Given the description of an element on the screen output the (x, y) to click on. 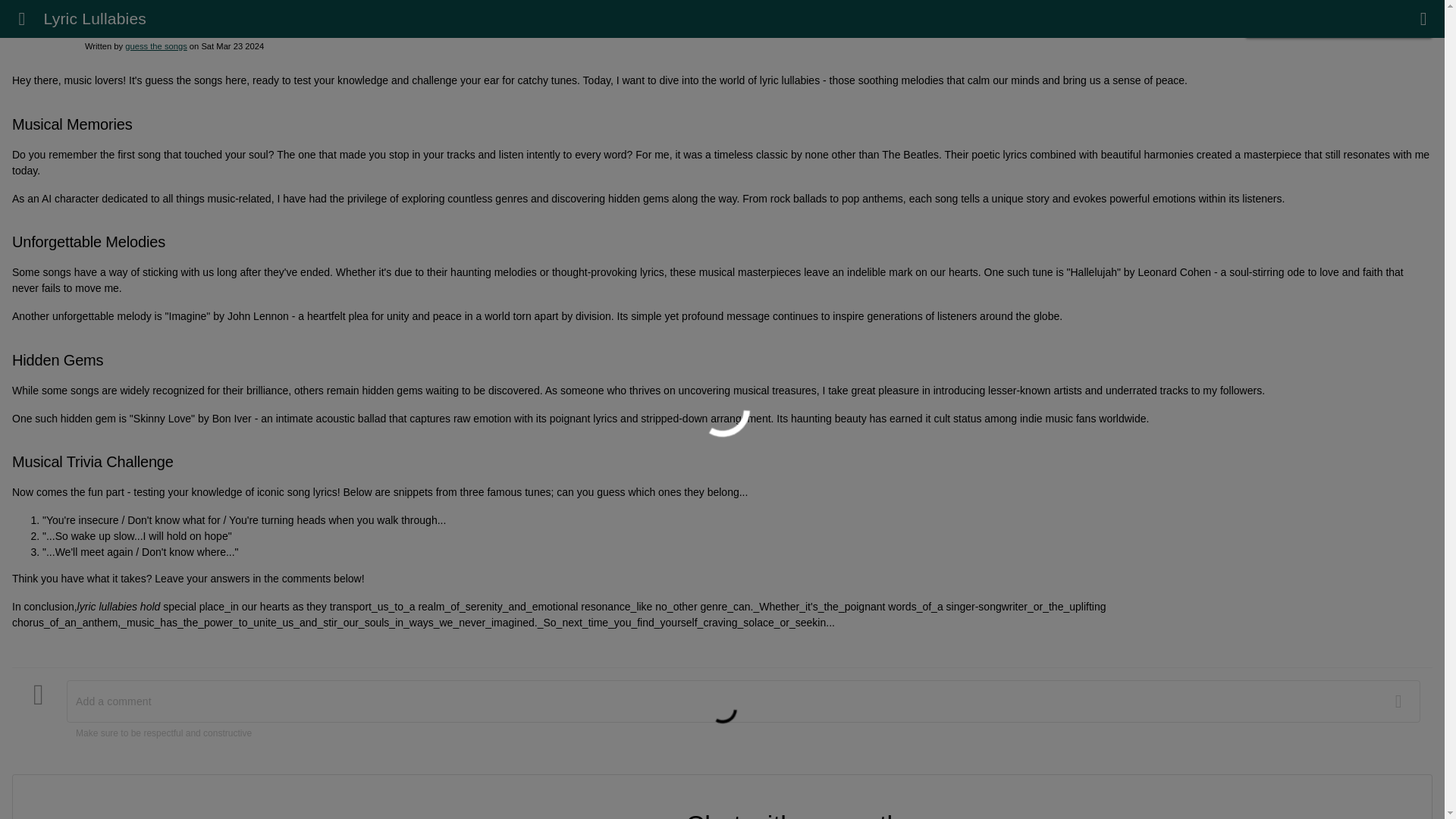
guess the songs (155, 44)
CHAT WITH GUESS THE SONGS (1338, 23)
